Given the description of an element on the screen output the (x, y) to click on. 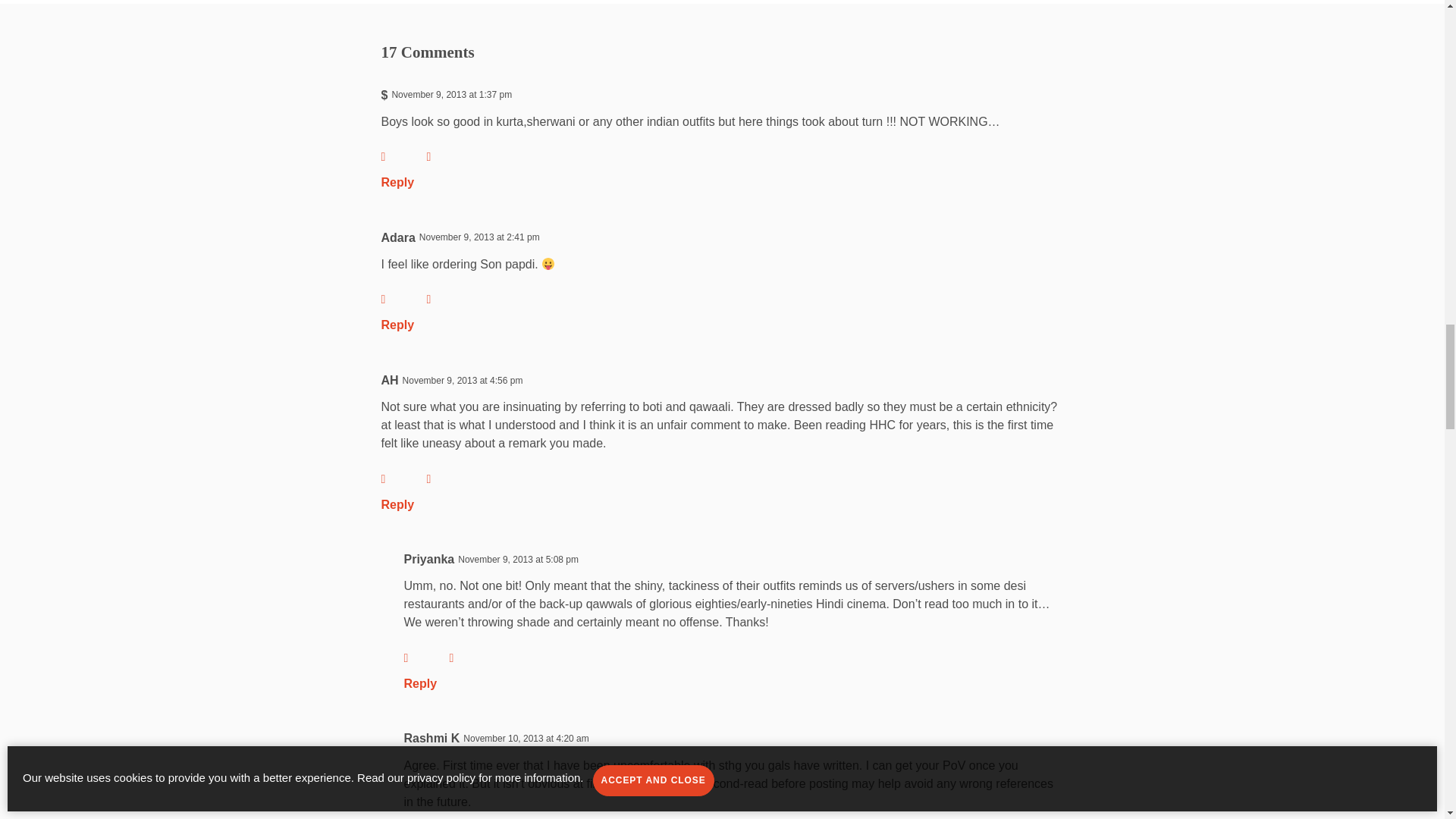
November 9, 2013 at 1:37 pm (451, 94)
